Given the description of an element on the screen output the (x, y) to click on. 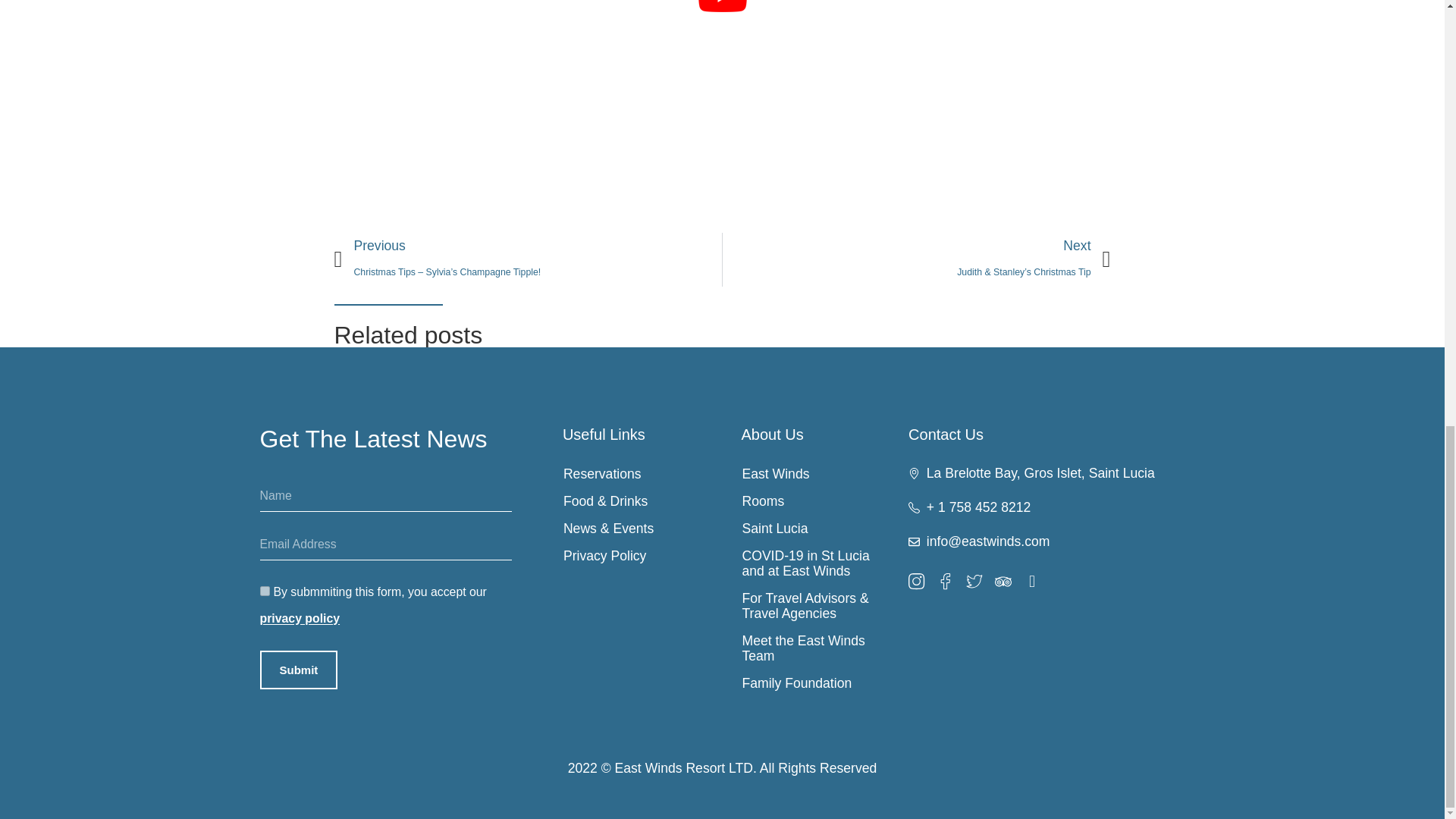
Meet the East Winds Team (811, 648)
Submit (298, 669)
Privacy Policy (632, 555)
East Winds (811, 473)
Rooms (811, 501)
privacy policy (299, 617)
Family Foundation (811, 682)
COVID-19 in St Lucia and at East Winds (811, 563)
Saint Lucia (811, 528)
Reservations (632, 473)
